Given the description of an element on the screen output the (x, y) to click on. 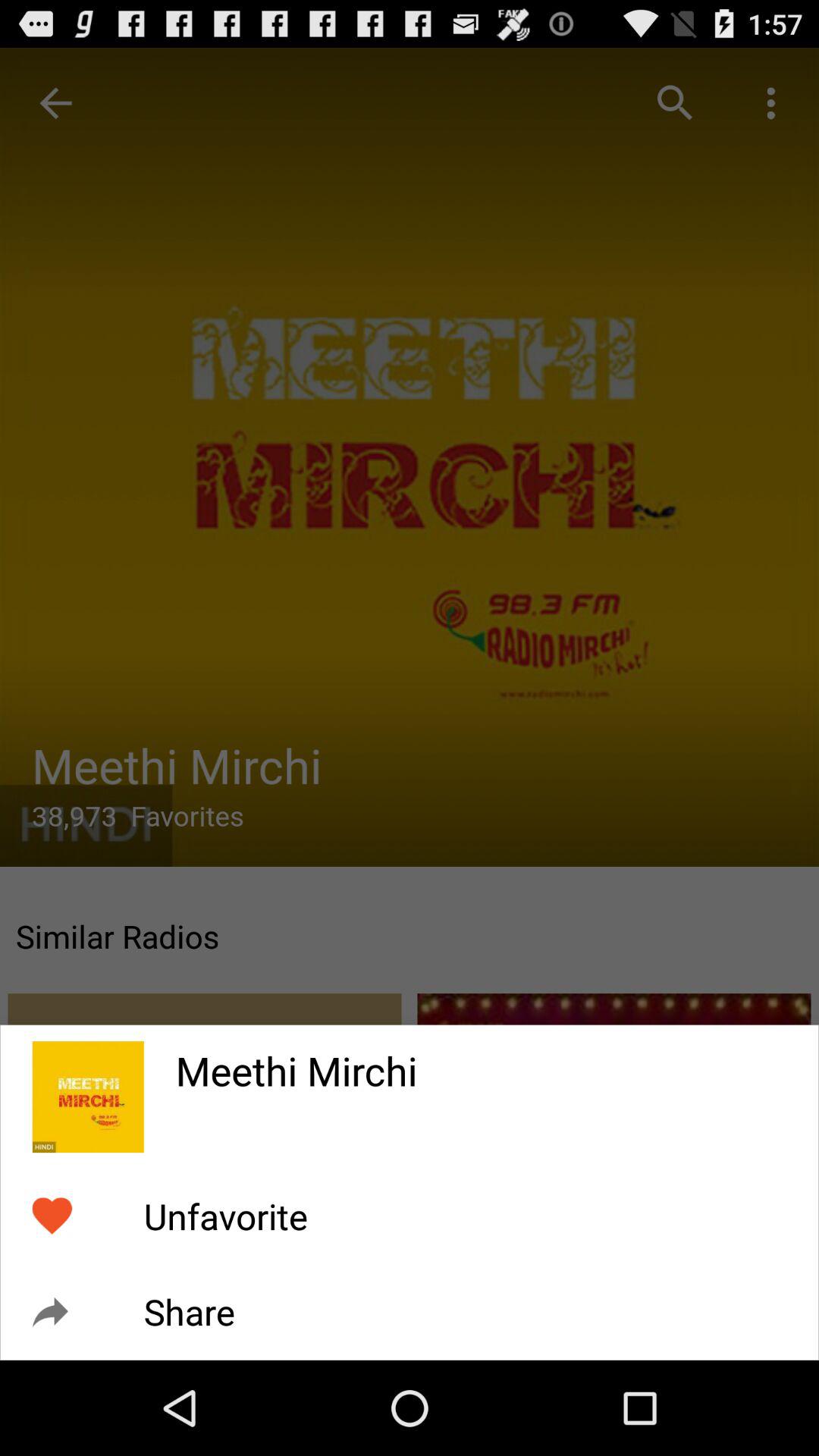
jump until share (188, 1311)
